Given the description of an element on the screen output the (x, y) to click on. 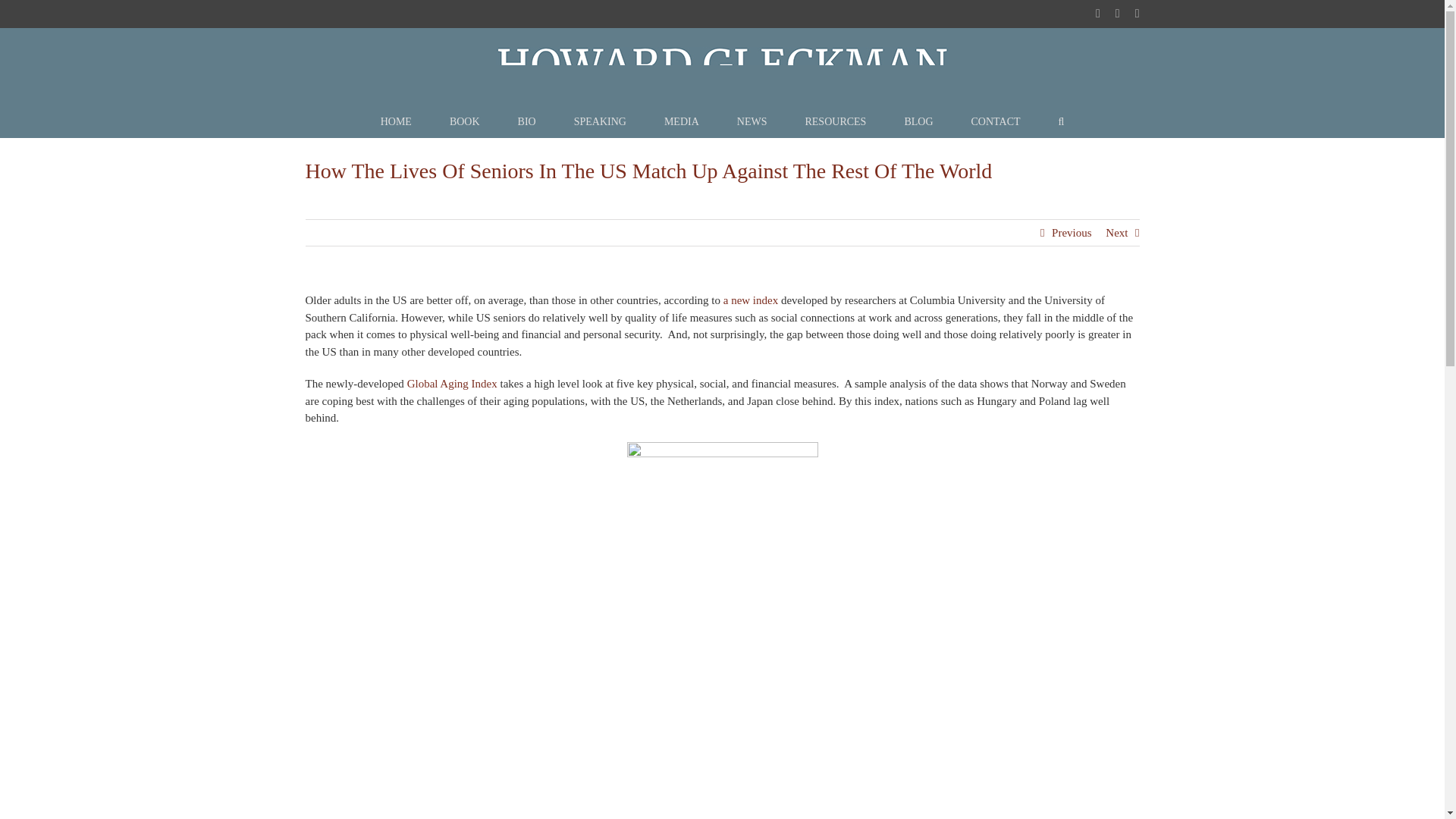
a new index (750, 300)
MEDIA (680, 122)
NEWS (751, 122)
SPEAKING (599, 122)
Global Aging Index (452, 383)
BLOG (918, 122)
BOOK (464, 122)
Previous (1071, 232)
CONTACT (995, 122)
RESOURCES (835, 122)
